Given the description of an element on the screen output the (x, y) to click on. 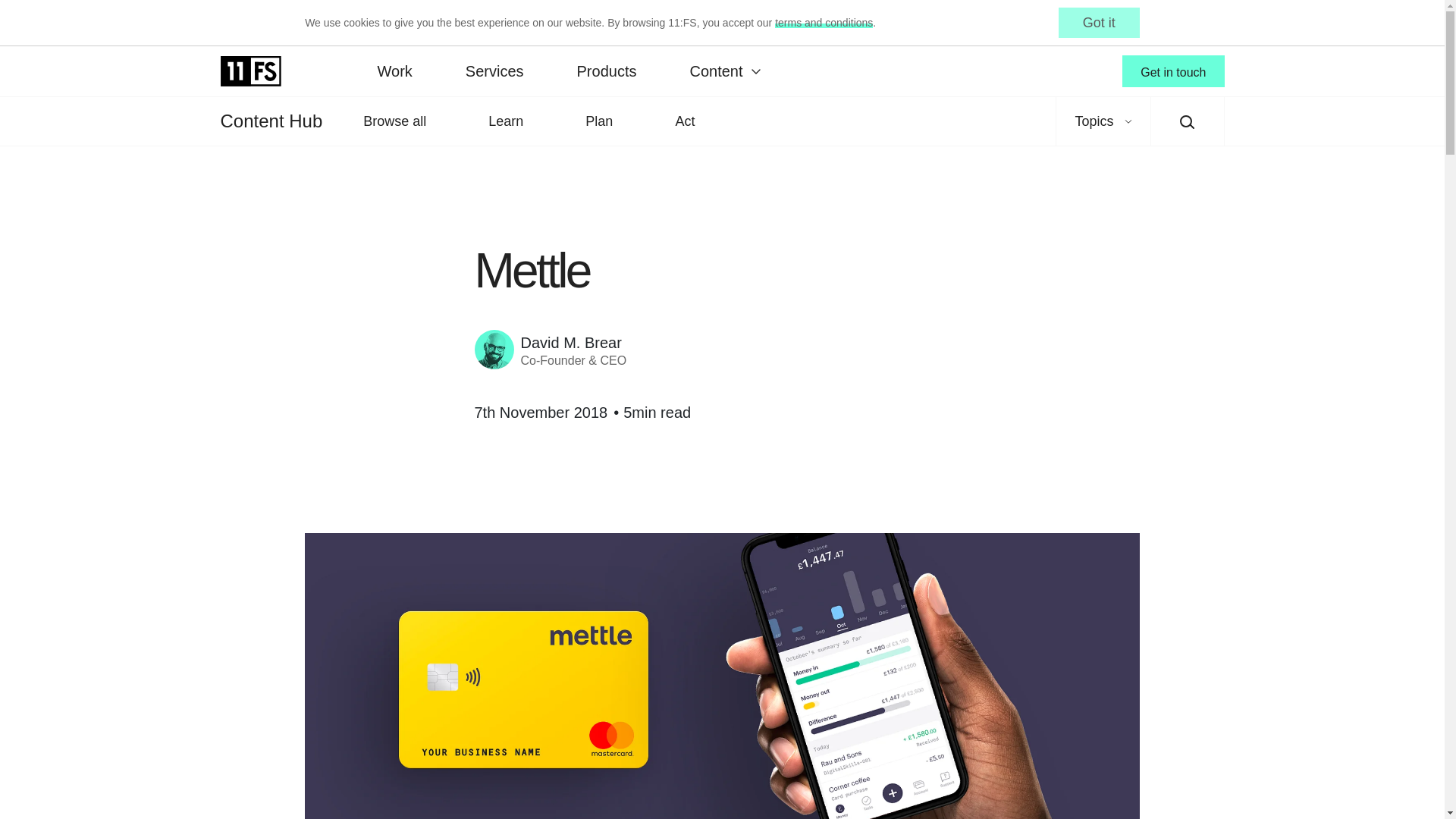
Got it (1099, 22)
Services (494, 71)
terms and conditions (823, 22)
Get in touch (1173, 70)
Products (606, 71)
Content Hub (270, 120)
Work (395, 71)
Browse all (394, 121)
Search (1187, 121)
Content (723, 71)
Topics (1103, 121)
11:FS (250, 71)
